Given the description of an element on the screen output the (x, y) to click on. 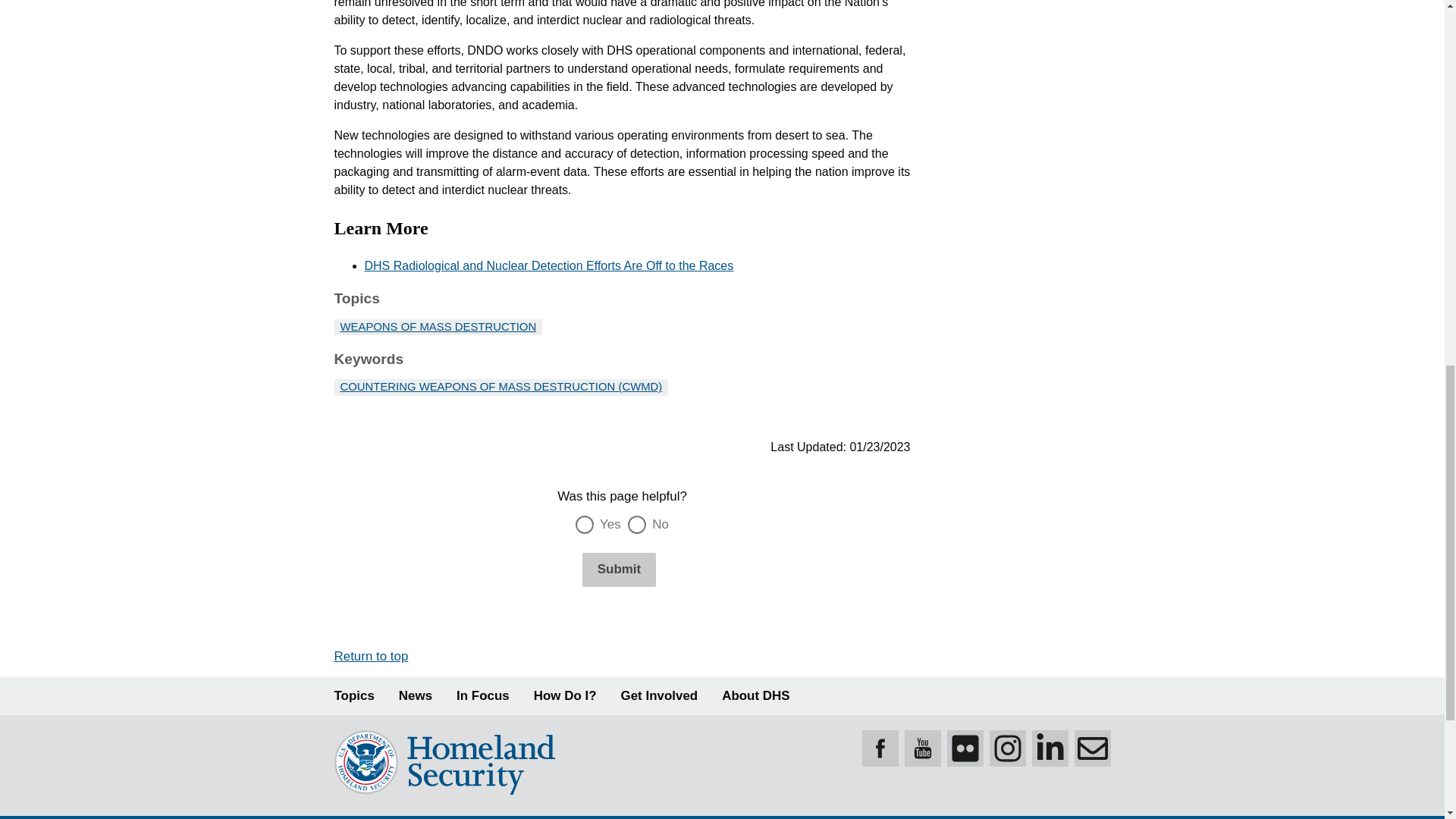
Submit (619, 569)
Get Involved (659, 696)
Submit (619, 569)
Topics (353, 696)
Get Involved (659, 696)
About DHS (755, 696)
Topics (353, 696)
Submit (619, 569)
Return to top (370, 656)
WEAPONS OF MASS DESTRUCTION (437, 326)
How Do I? (565, 696)
In Focus (483, 696)
